Given the description of an element on the screen output the (x, y) to click on. 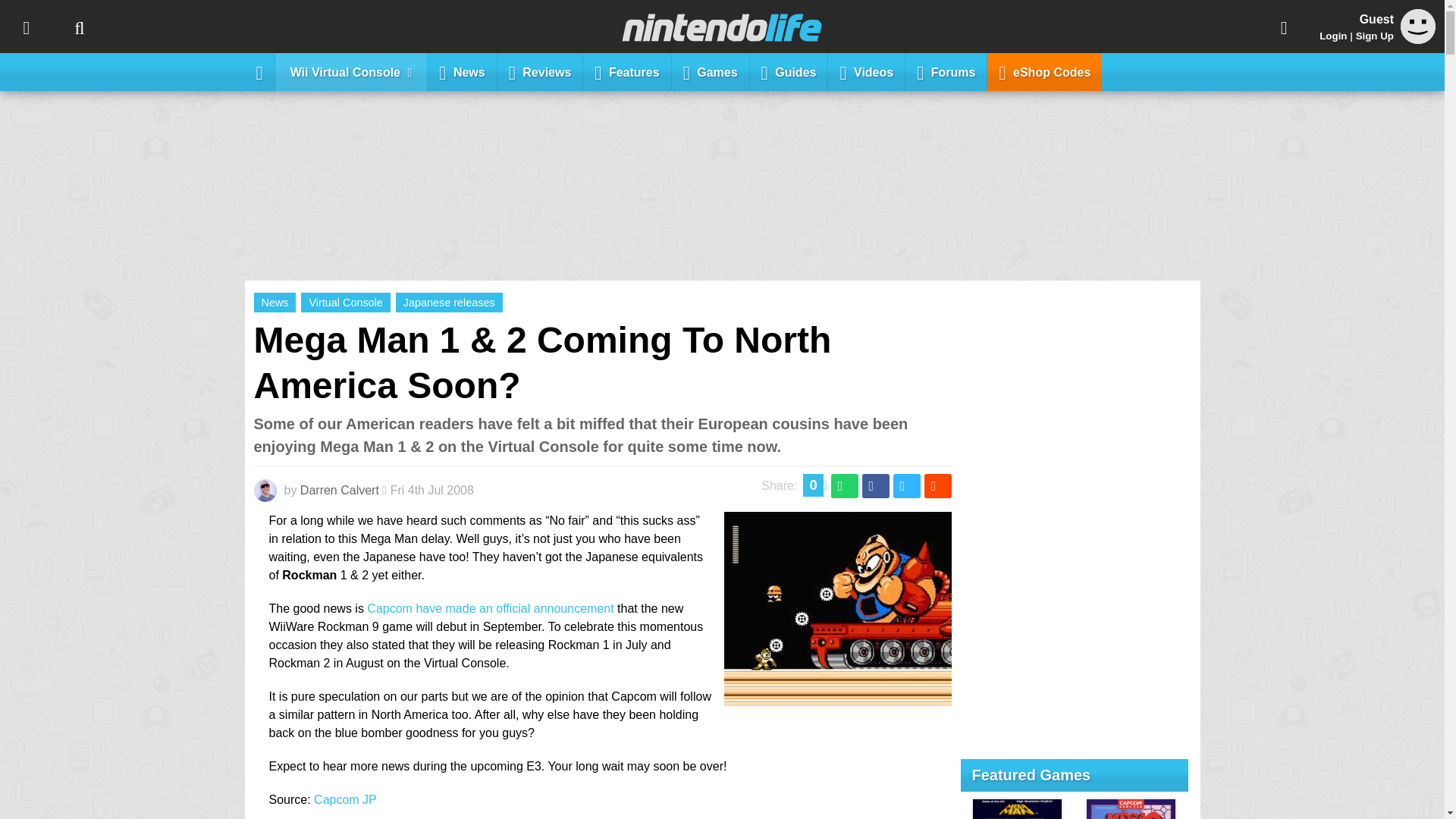
Guest (1417, 26)
Share this on Reddit (936, 485)
Watch out Mega Man!! (836, 696)
Virtual Console (345, 302)
Forums (946, 71)
Guides (788, 71)
Share this on Facebook (874, 485)
eShop Codes (1044, 71)
Reviews (540, 71)
Share This Page (1283, 26)
Videos (866, 71)
Features (627, 71)
Login (1332, 35)
Wii Virtual Console (351, 71)
Nintendo Life (721, 27)
